Given the description of an element on the screen output the (x, y) to click on. 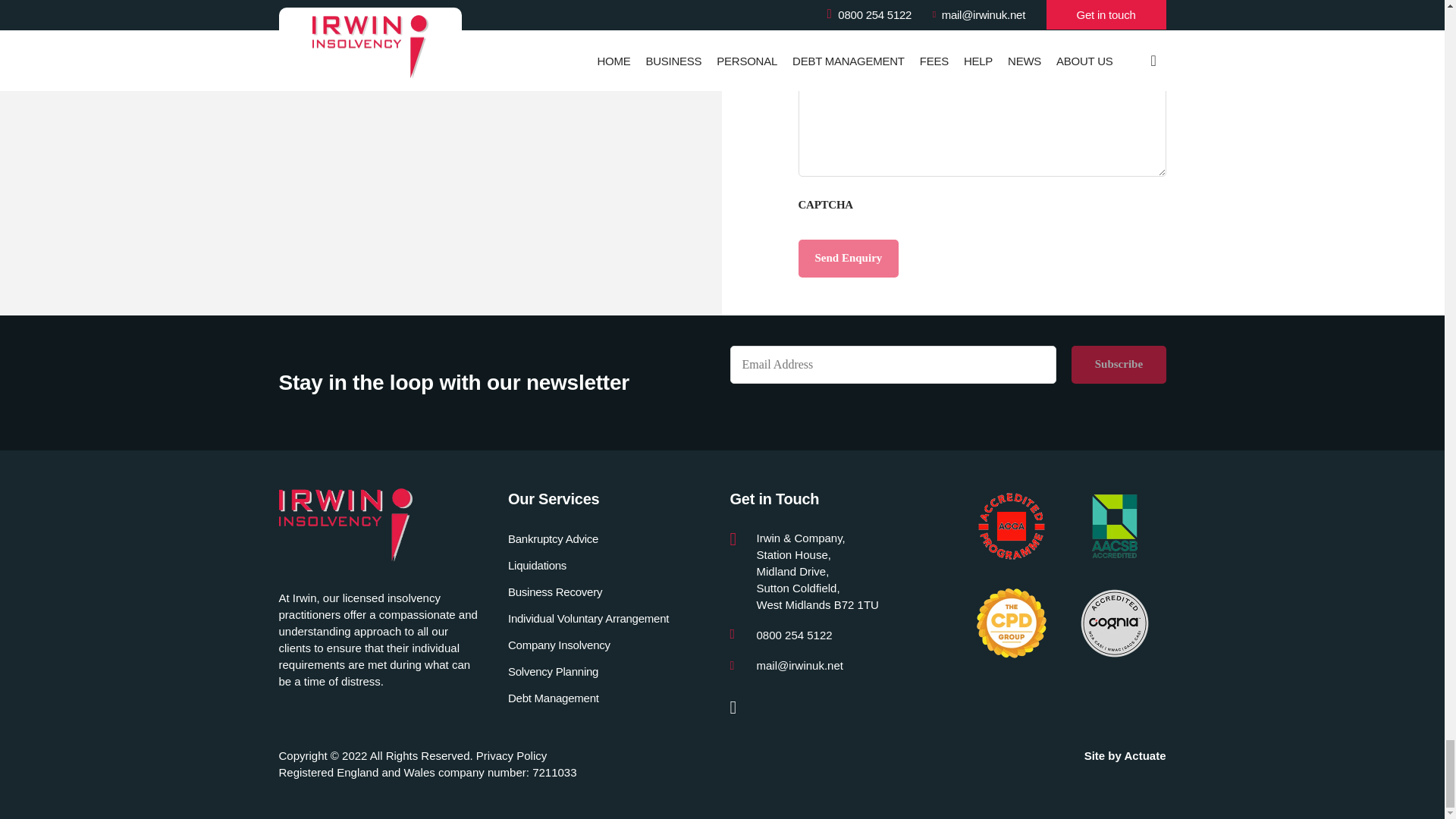
Subscribe (1118, 364)
Send Enquiry (847, 258)
